Given the description of an element on the screen output the (x, y) to click on. 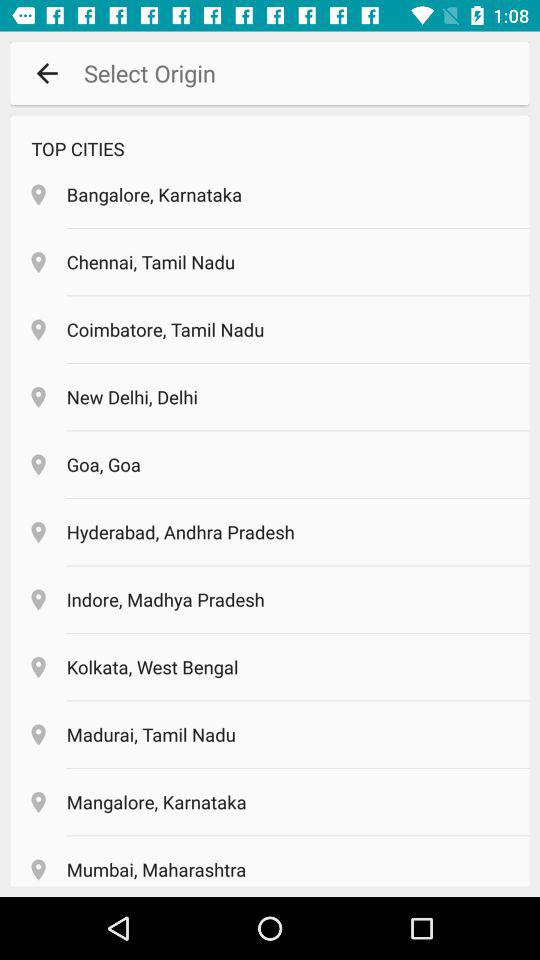
select the location icon on the bottom left corner of the web page (38, 870)
click on the location goa goa (269, 463)
click on the arrow (47, 73)
